Given the description of an element on the screen output the (x, y) to click on. 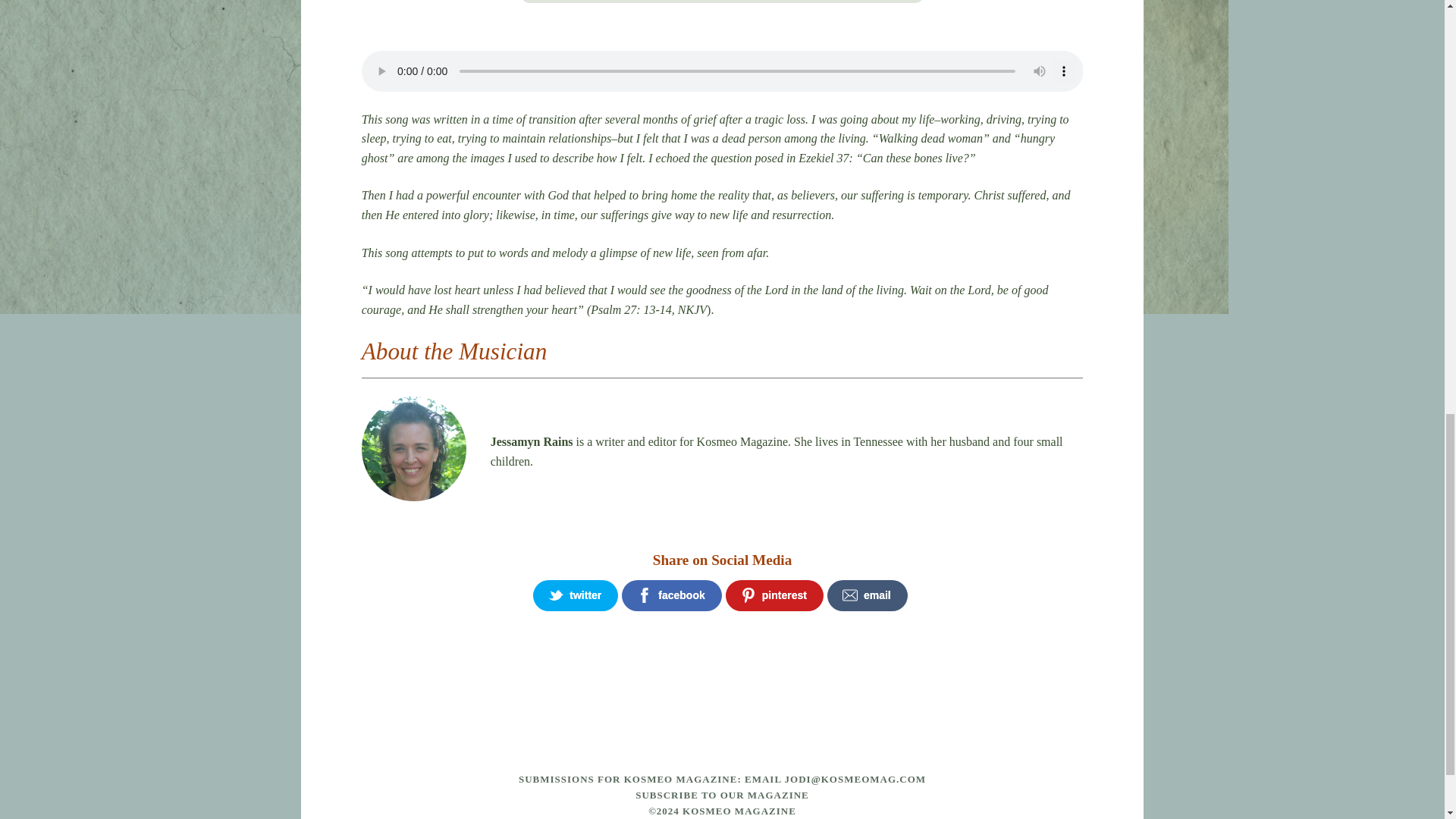
SUBSCRIBE TO OUR MAGAZINE (721, 794)
twitter (574, 594)
pinterest (774, 594)
facebook (670, 594)
email (867, 594)
